Given the description of an element on the screen output the (x, y) to click on. 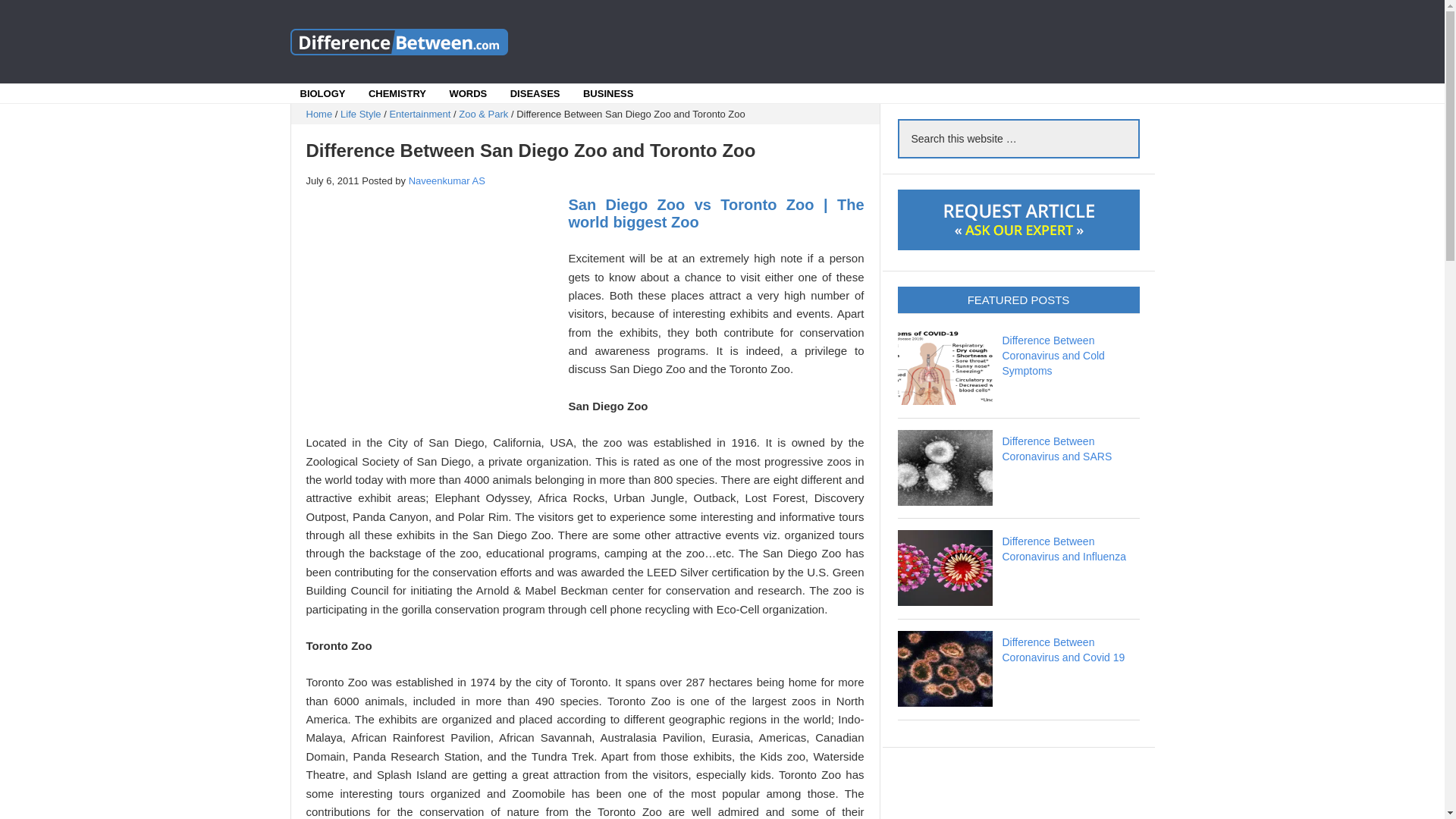
Difference Between Coronavirus and Covid 19 (1064, 649)
Advertisement (432, 305)
Compare the Difference Between Similar Terms (402, 41)
Difference Between Coronavirus and Influenza (1064, 548)
Naveenkumar AS (446, 180)
CHEMISTRY (397, 93)
DISEASES (534, 93)
WORDS (467, 93)
Difference Between Coronavirus and SARS (1057, 448)
